Given the description of an element on the screen output the (x, y) to click on. 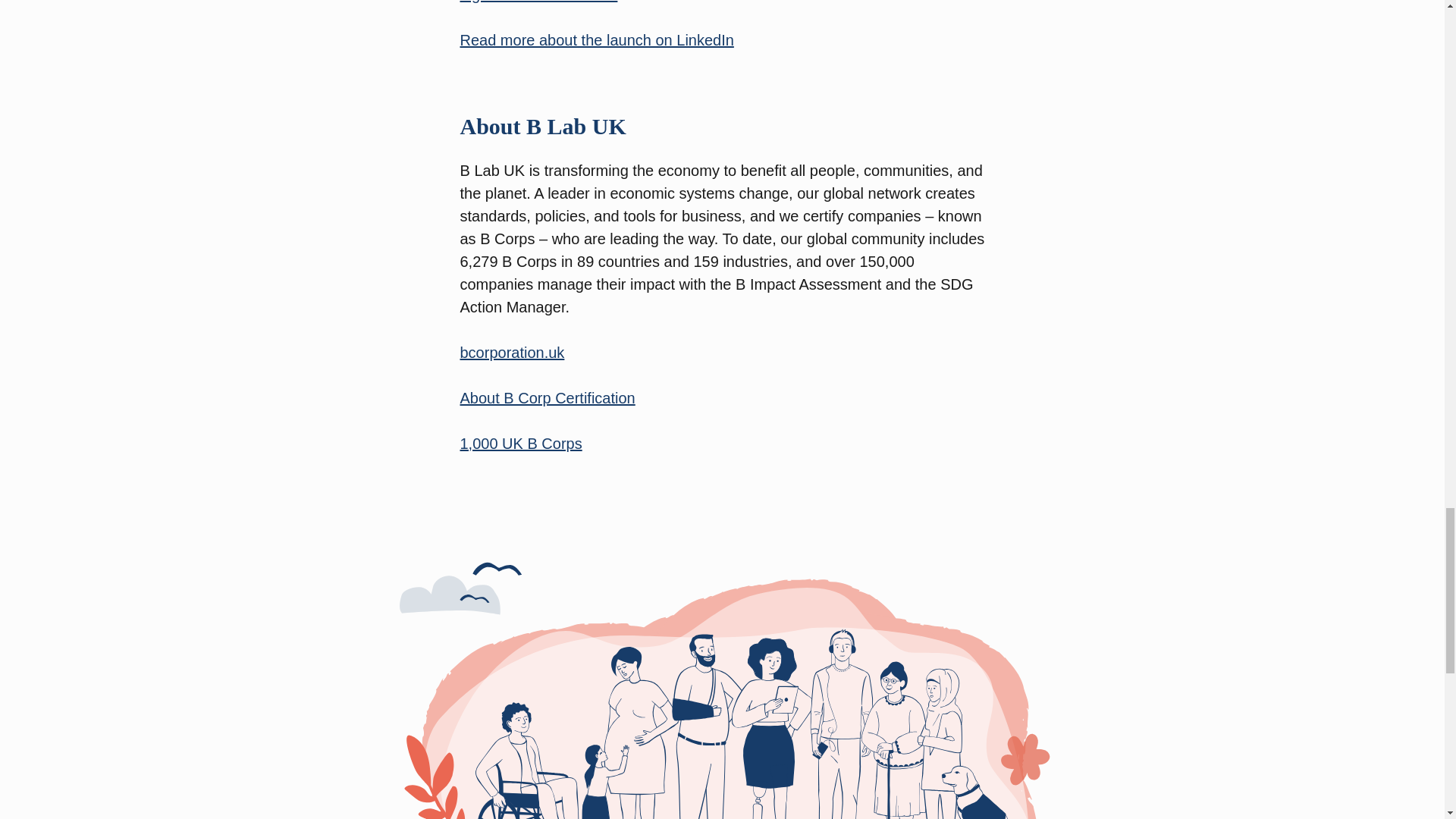
About B Corp Certification (547, 397)
bcorporation.uk (512, 352)
digitalasitshouldbe.com (538, 1)
Read more about the launch on LinkedIn (596, 39)
1,000 UK B Corps (520, 443)
